Given the description of an element on the screen output the (x, y) to click on. 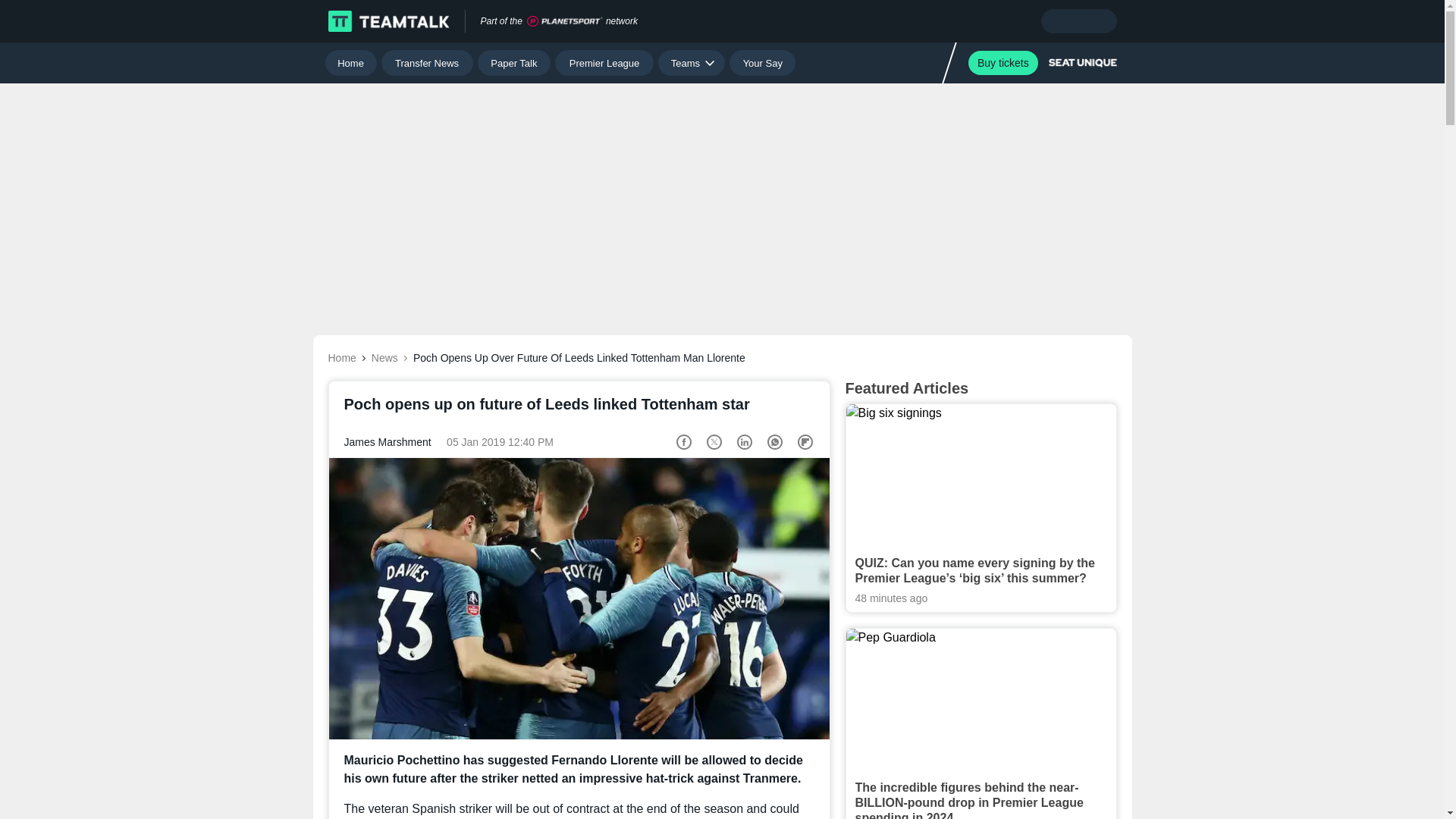
Paper Talk (514, 62)
Premier League (603, 62)
Posts by James Marshment (386, 441)
Your Say (761, 62)
Home (349, 62)
Buy tickets (1003, 62)
Teams (691, 62)
Transfer News (427, 62)
